Given the description of an element on the screen output the (x, y) to click on. 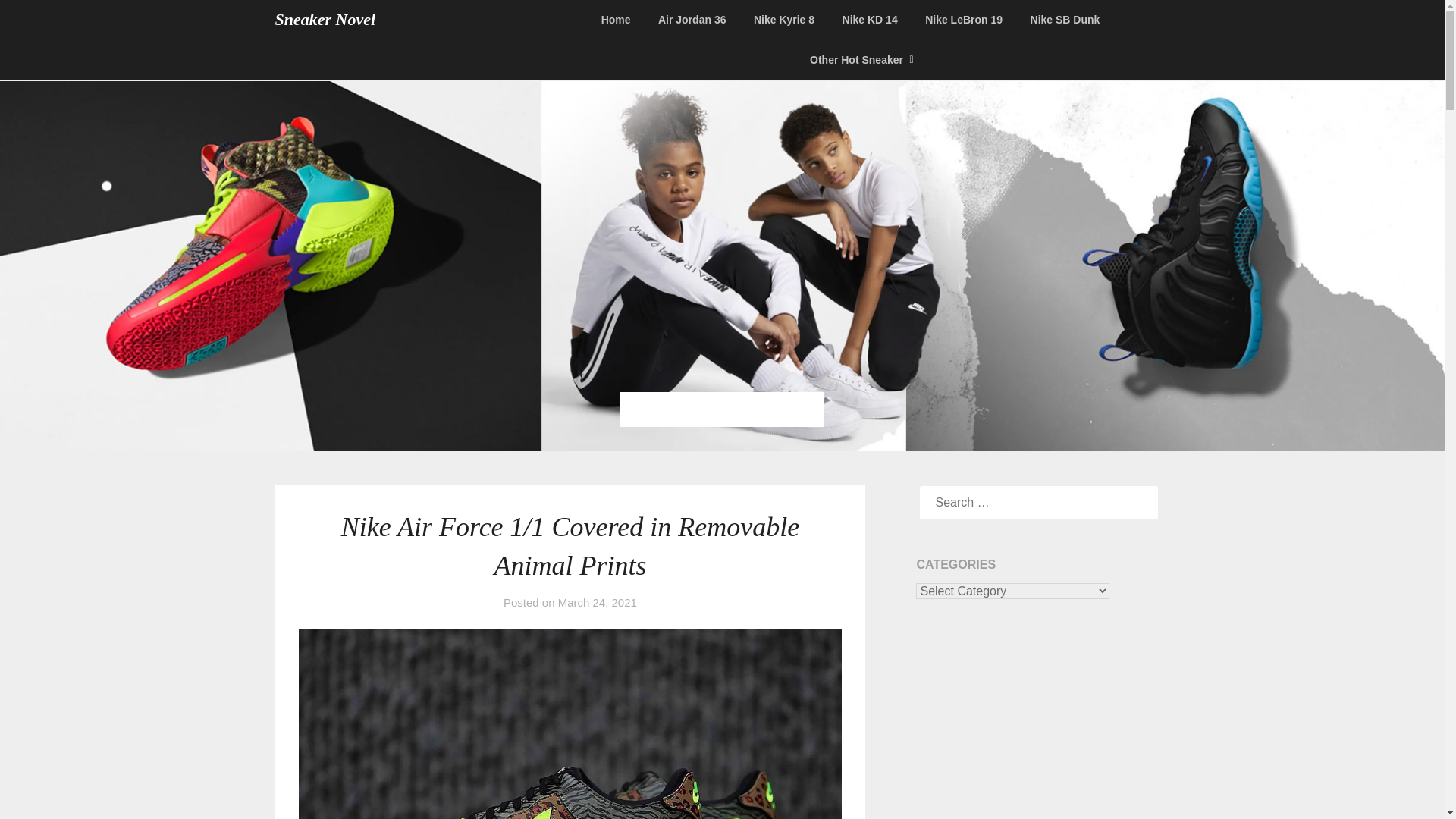
Nike Kyrie 8 (784, 20)
Home (622, 20)
March 24, 2021 (597, 602)
Nike LeBron 19 (963, 20)
Sneaker Novel (325, 19)
Other Hot Sneaker (856, 60)
Nike KD 14 (869, 20)
Search (38, 22)
Nike SB Dunk (1064, 20)
Air Jordan 36 (692, 20)
